Given the description of an element on the screen output the (x, y) to click on. 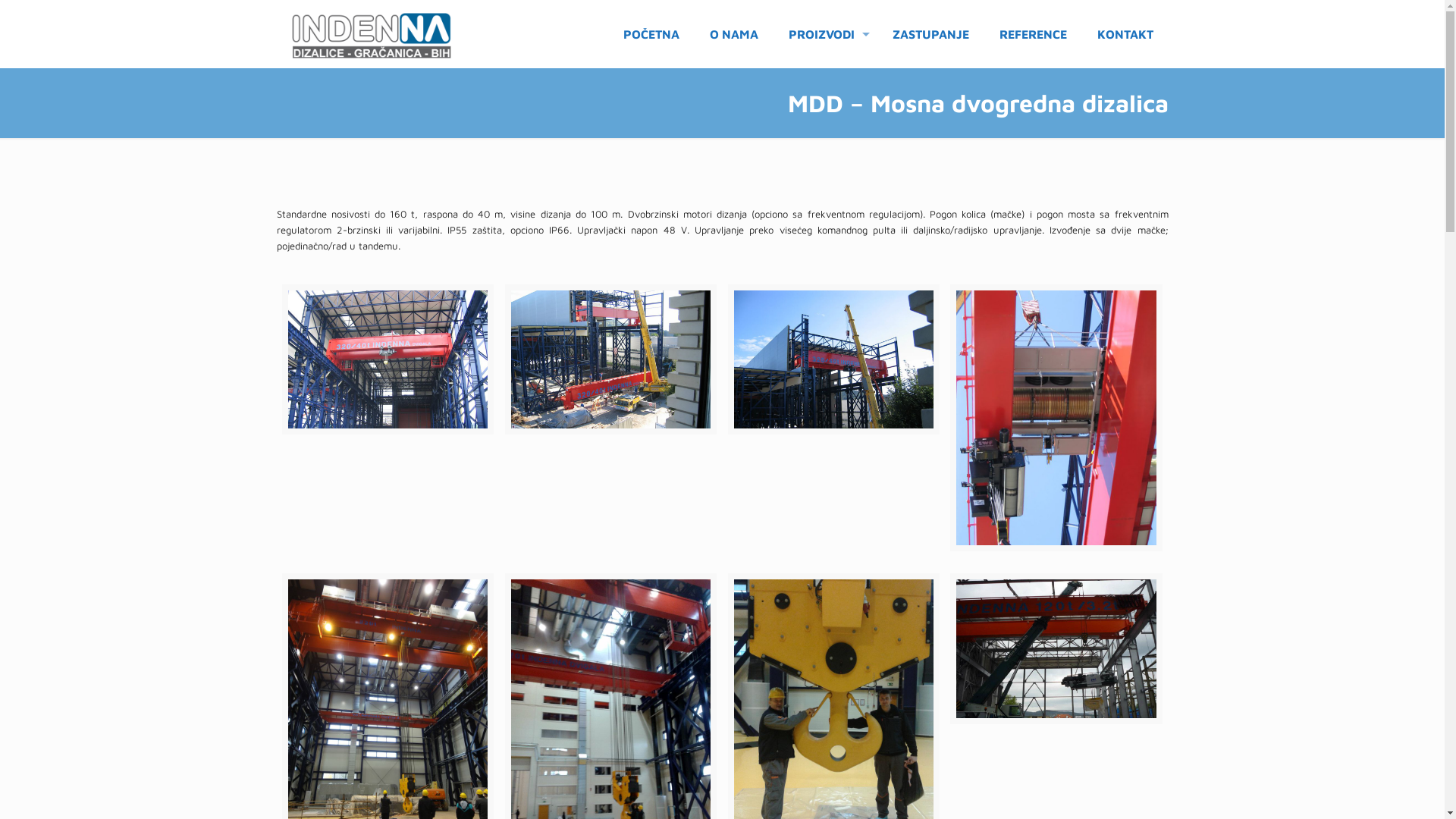
PROIZVODI Element type: text (825, 34)
REFERENCE Element type: text (1033, 34)
O NAMA Element type: text (733, 34)
Indenna dizalice d.o.o. Element type: hover (370, 34)
KONTAKT Element type: text (1124, 34)
ZASTUPANJE Element type: text (929, 34)
